Given the description of an element on the screen output the (x, y) to click on. 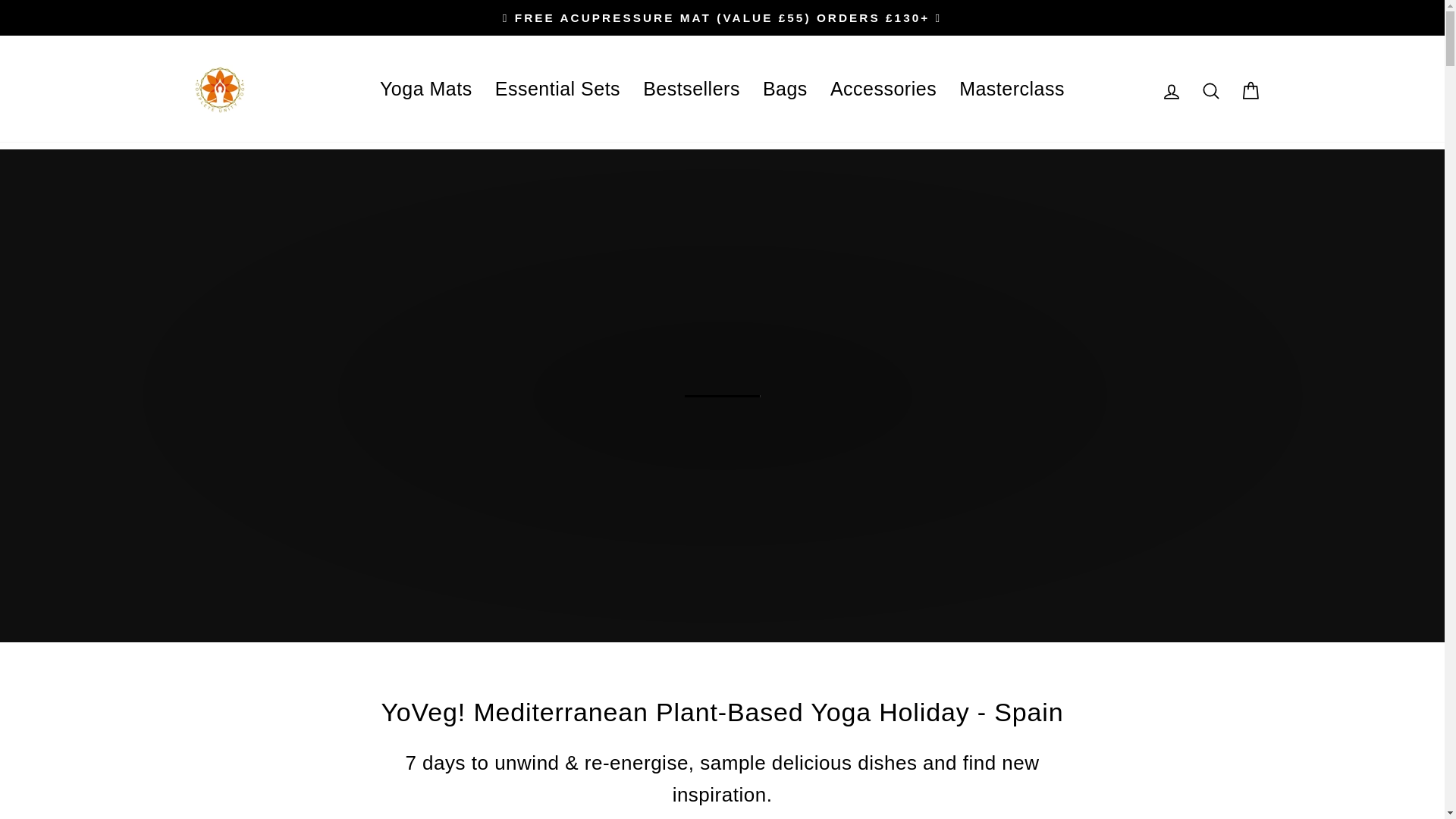
Bags (784, 88)
Essential Sets (557, 88)
Bestsellers (691, 88)
Accessories (882, 88)
Yoga Mats (425, 88)
